Given the description of an element on the screen output the (x, y) to click on. 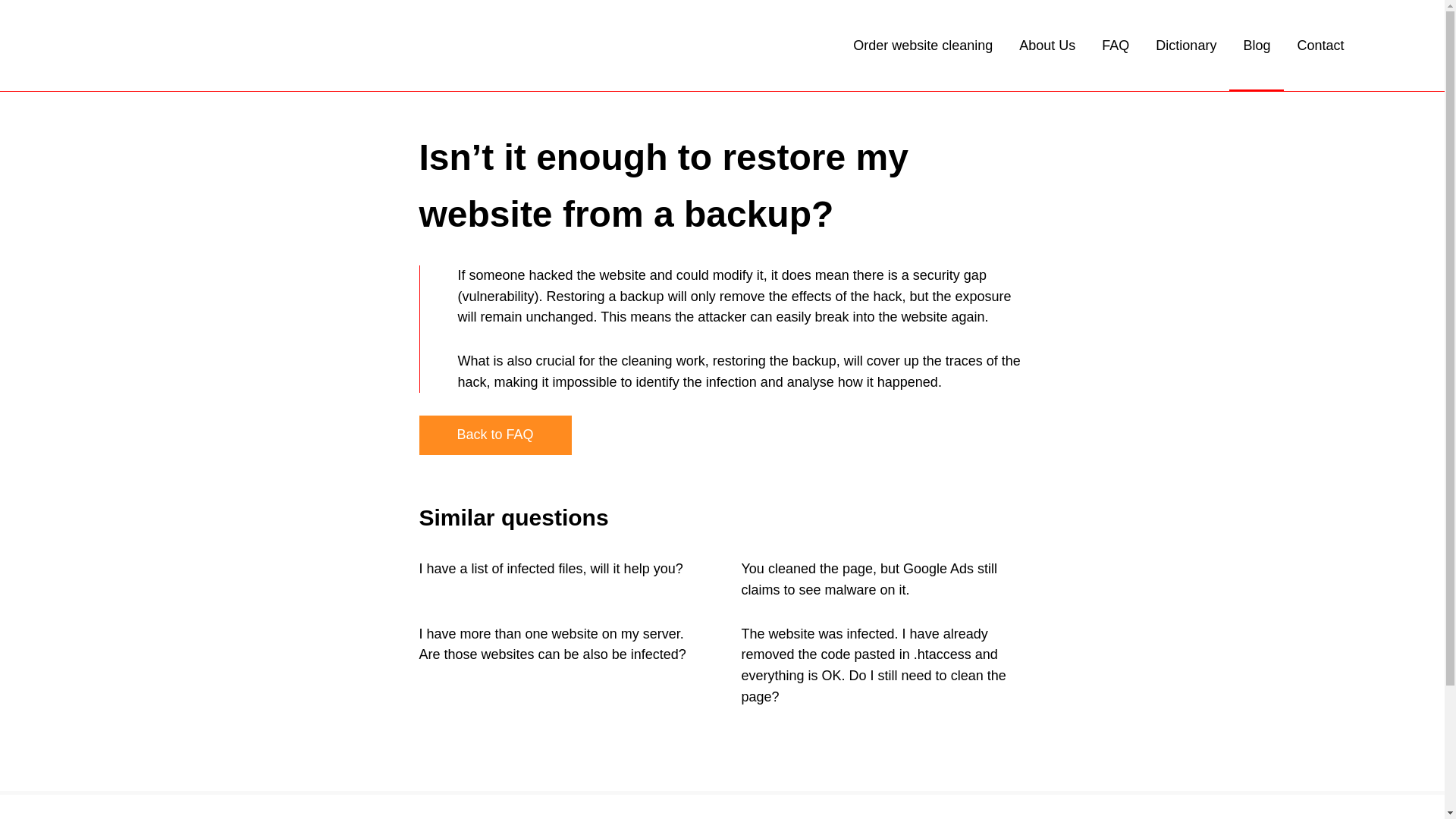
Dictionary Element type: text (1185, 45)
Contact Element type: text (1319, 45)
360 WebRescue Element type: text (213, 45)
About Us Element type: text (1047, 45)
I have a list of infected files, will it help you? Element type: text (550, 568)
Back to FAQ Element type: text (494, 435)
Order website cleaning Element type: text (922, 45)
Blog Element type: text (1256, 45)
FAQ Element type: text (1115, 45)
